Given the description of an element on the screen output the (x, y) to click on. 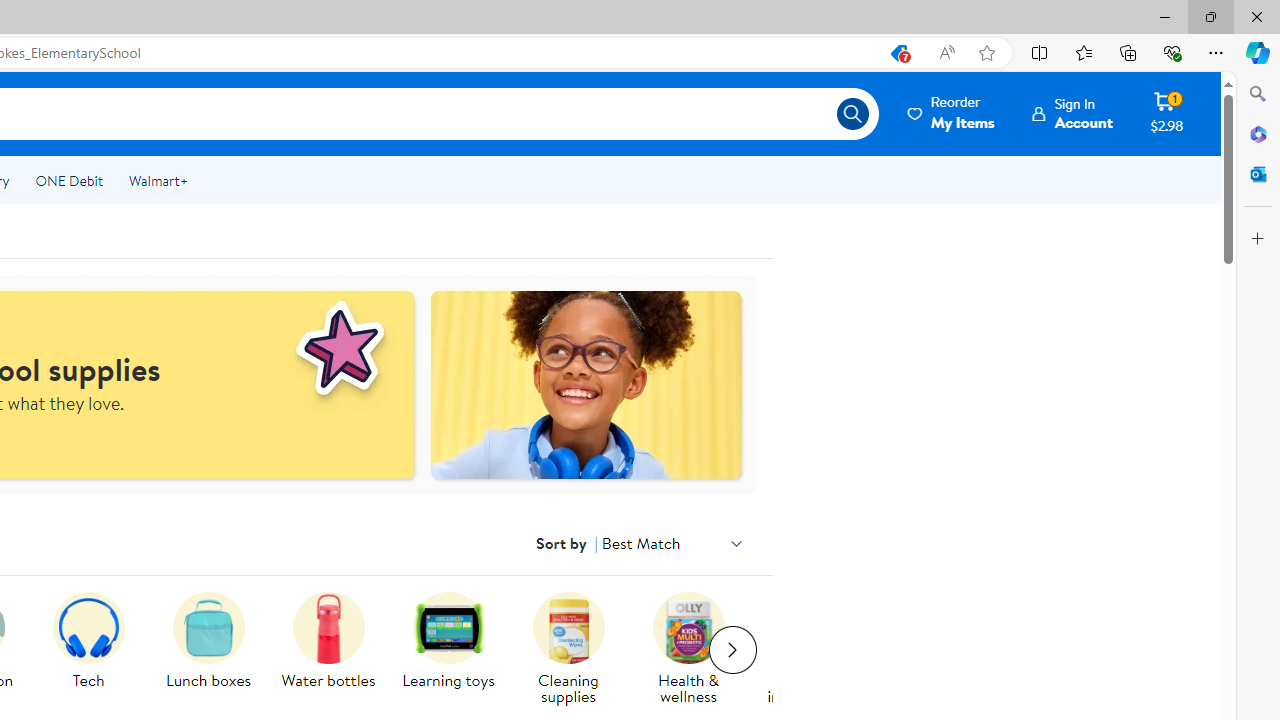
Cleaning supplies Cleaning supplies (567, 650)
Water bottles (336, 650)
Sign In Account (1072, 113)
Reorder My Items (952, 113)
ONE Debit (68, 180)
A pack of Olly multivitamins are on display. (687, 628)
Musical instruments (816, 650)
Cart contains 1 item Total Amount $2.98 (1166, 113)
ONE Debit (68, 180)
